Given the description of an element on the screen output the (x, y) to click on. 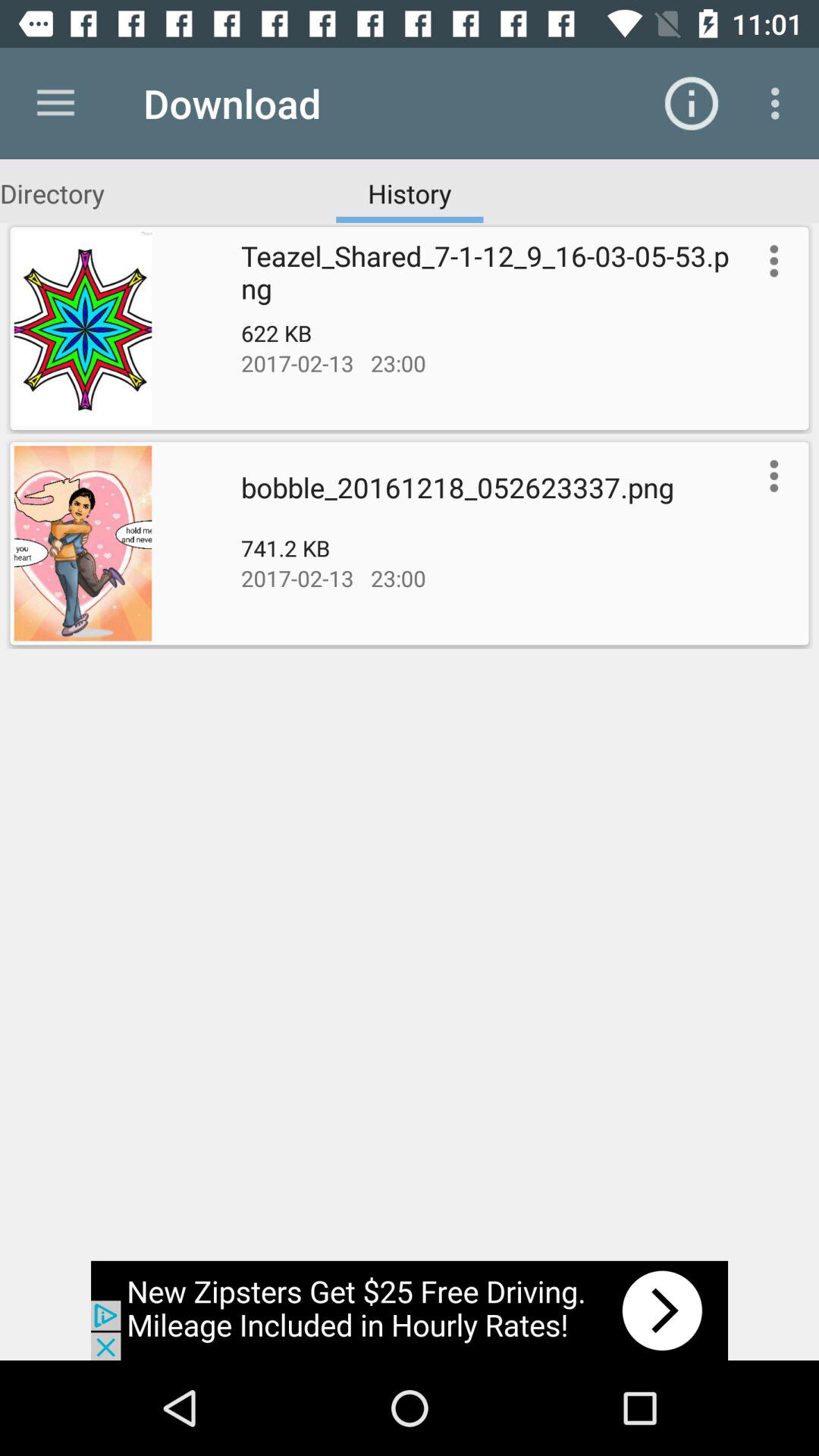
setting the option (770, 260)
